Given the description of an element on the screen output the (x, y) to click on. 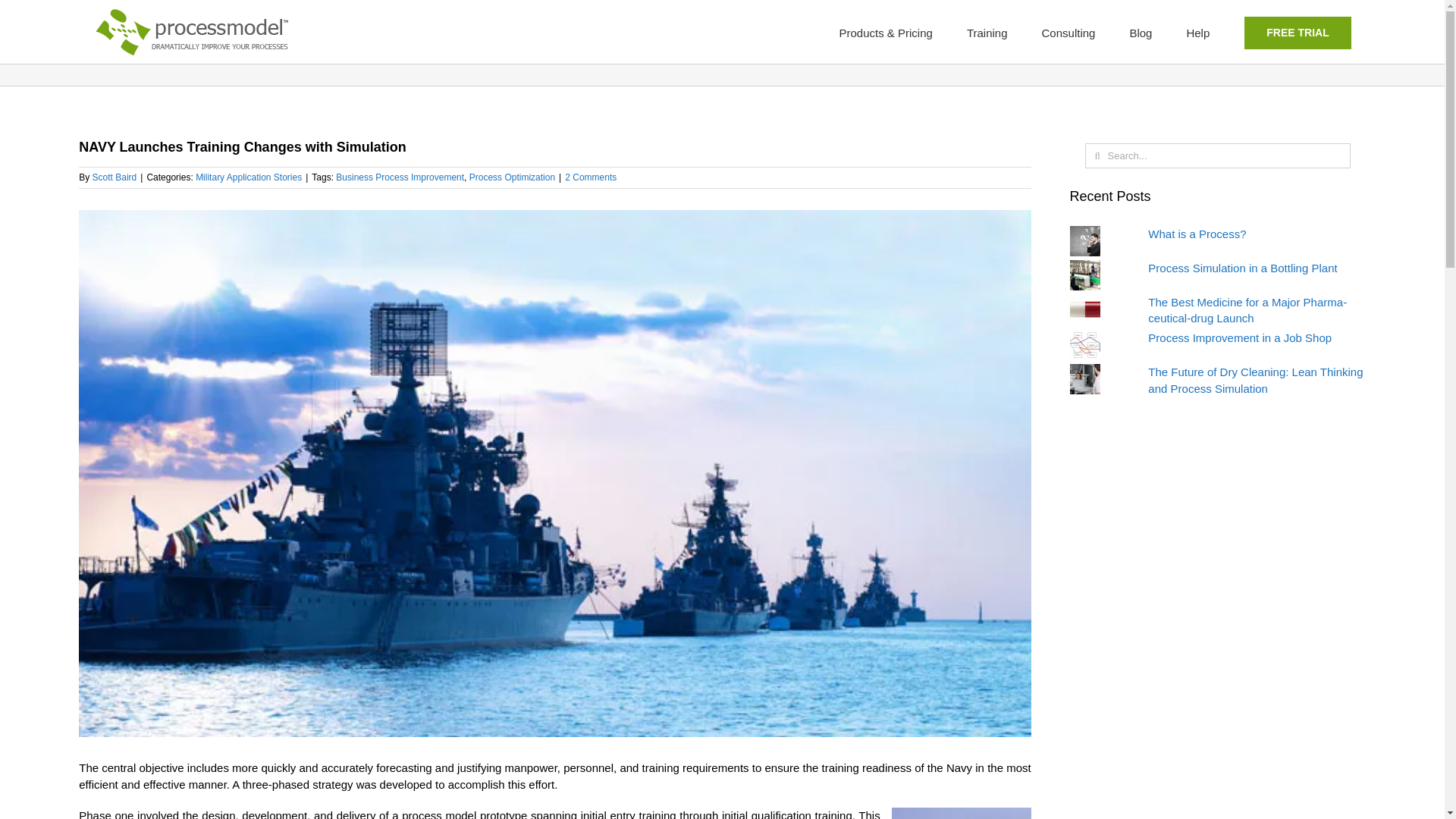
FREE TRIAL (1297, 31)
Get started with a Free ProcessModel Trial (1297, 31)
2 Comments (589, 176)
Posts by Scott Baird (114, 176)
Scott Baird (114, 176)
Process Improvement in a Job Shop (1240, 337)
Process Optimization (511, 176)
What is a Process? (1197, 233)
Business Process Improvement (400, 176)
